Given the description of an element on the screen output the (x, y) to click on. 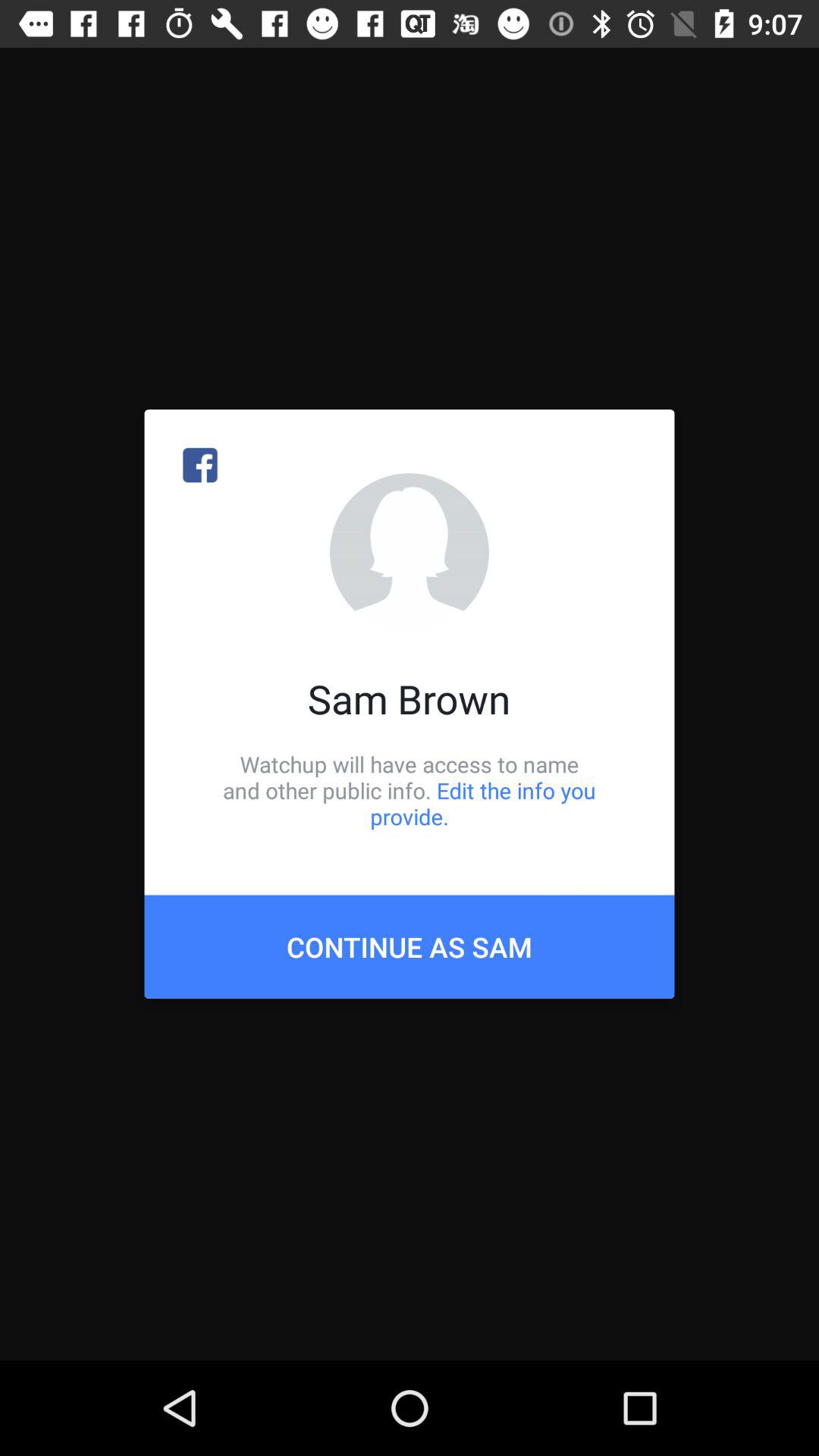
tap icon below watchup will have icon (409, 946)
